Given the description of an element on the screen output the (x, y) to click on. 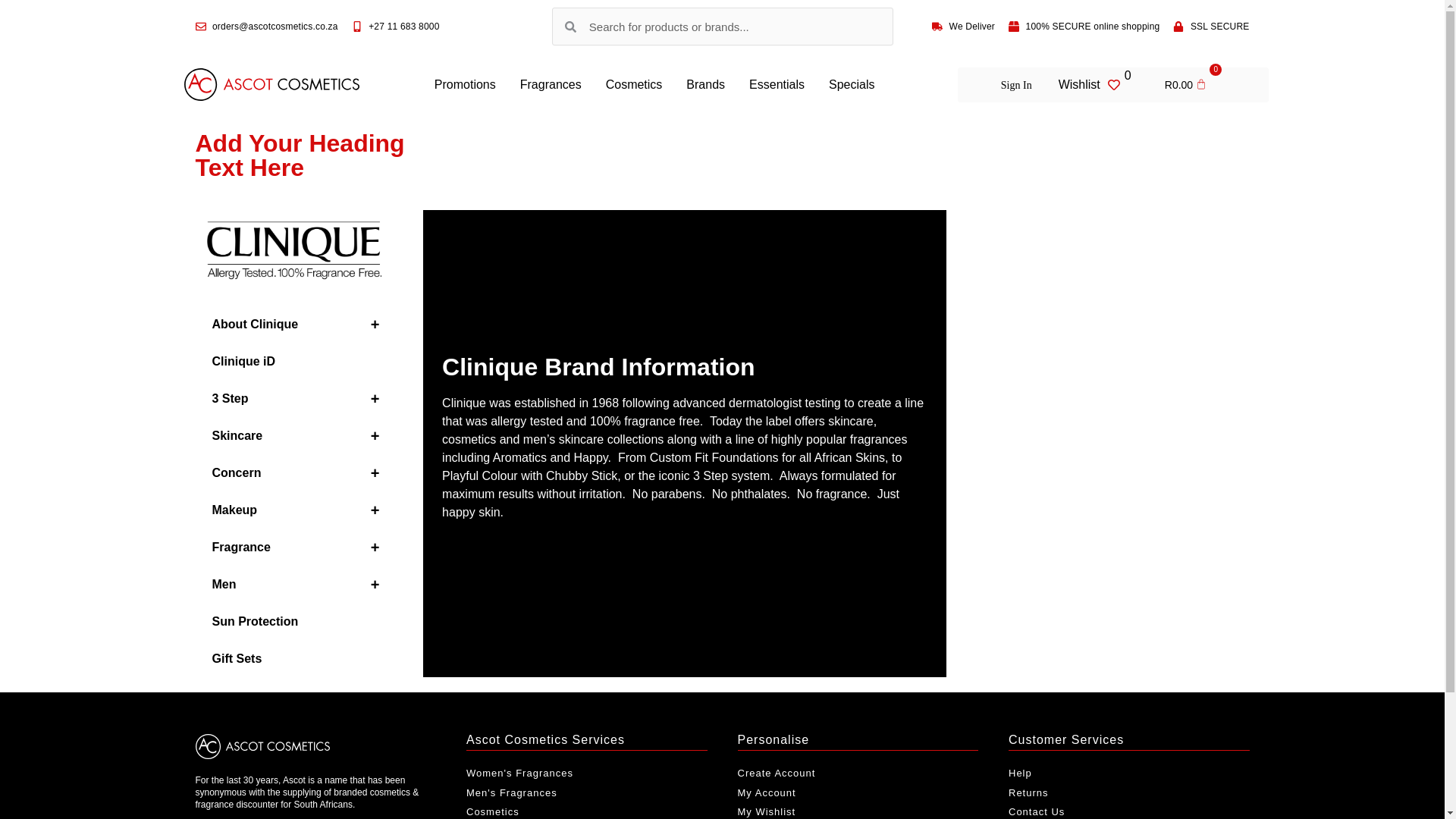
Specials (851, 84)
Promotions (465, 84)
Brands (705, 84)
Fragrances (551, 84)
Essentials (776, 84)
Cosmetics (634, 84)
